Given the description of an element on the screen output the (x, y) to click on. 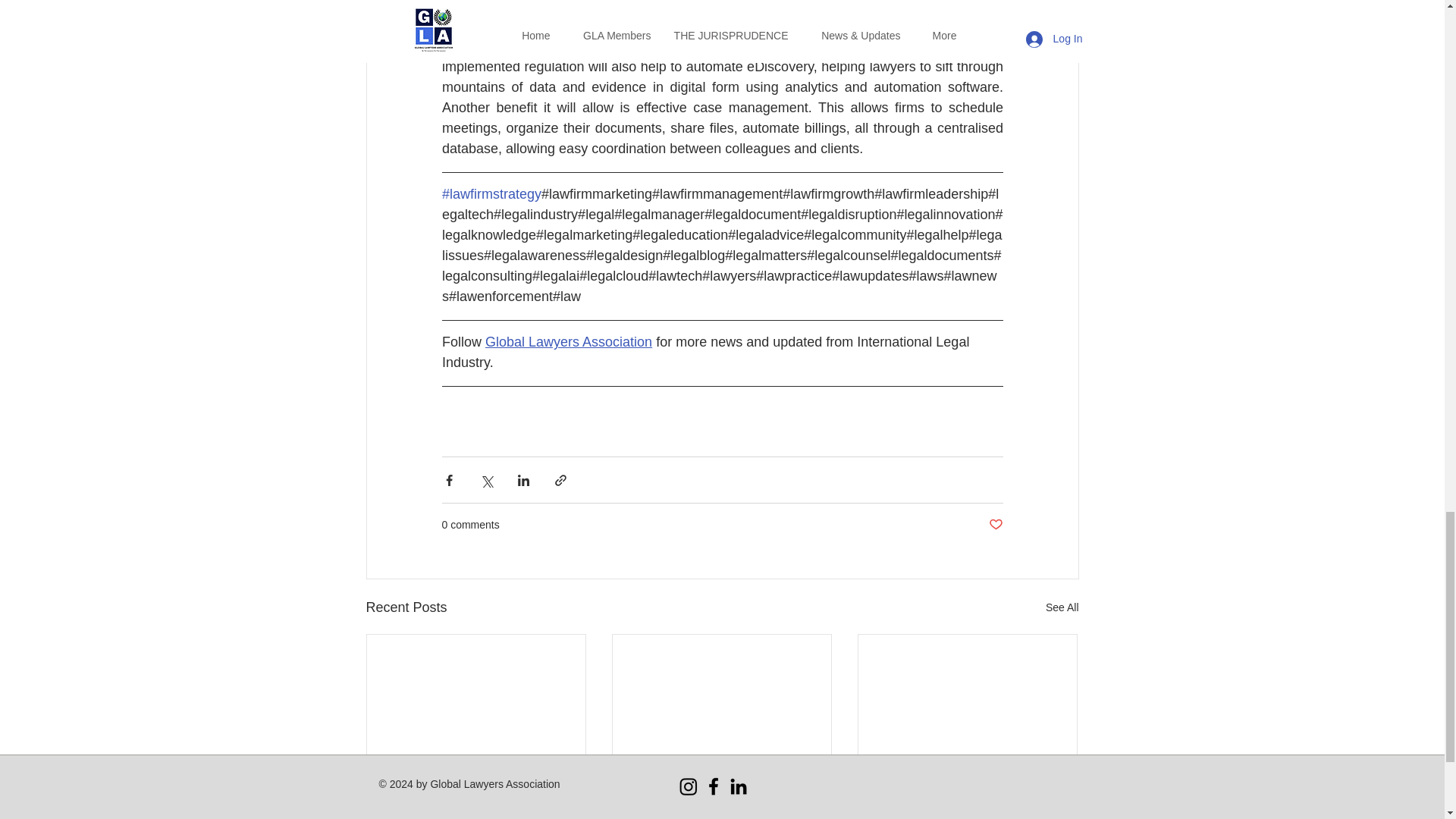
Post not marked as liked (995, 524)
Global Lawyers Association (568, 341)
See All (1061, 608)
